Given the description of an element on the screen output the (x, y) to click on. 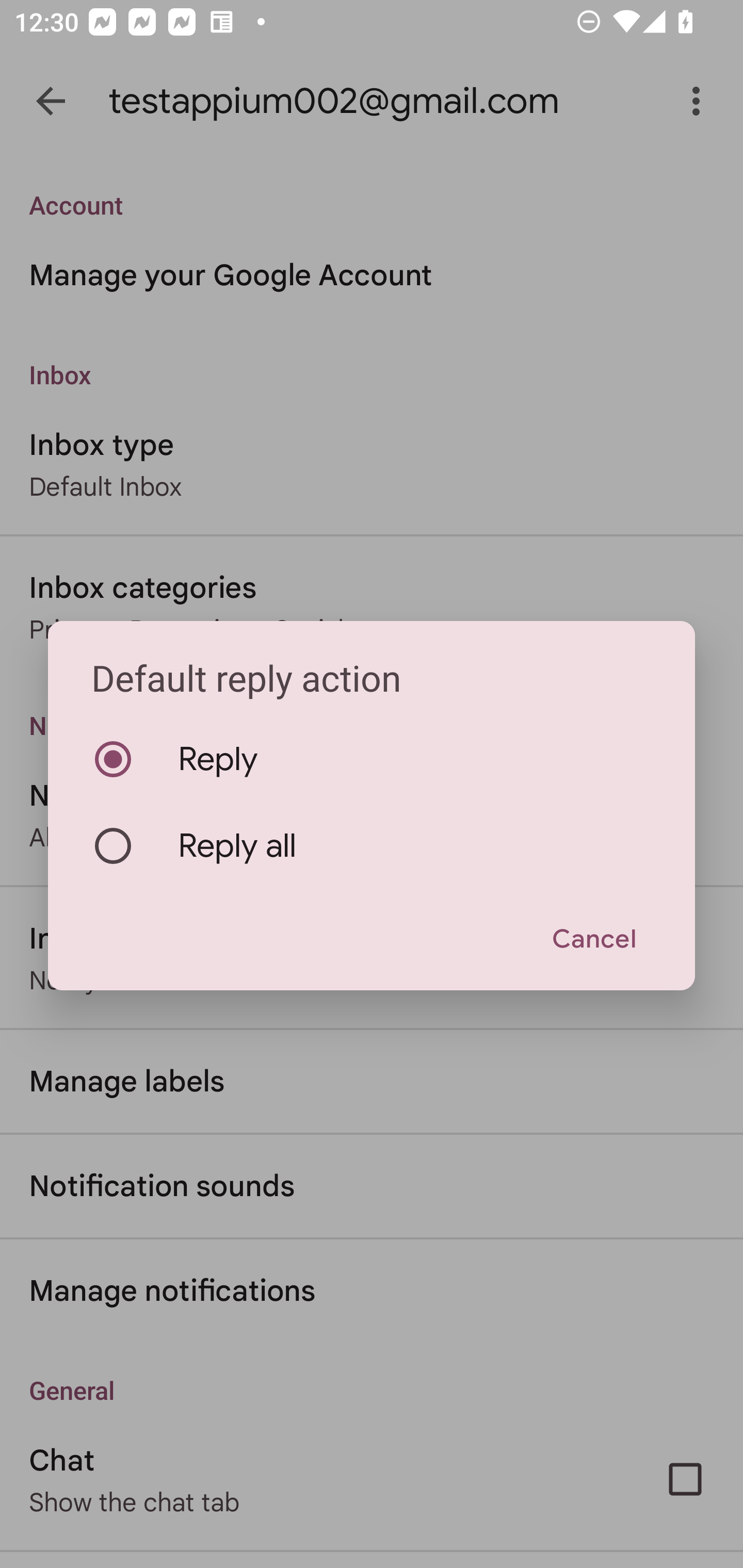
Reply (371, 759)
Reply all (371, 845)
Cancel (593, 939)
